Given the description of an element on the screen output the (x, y) to click on. 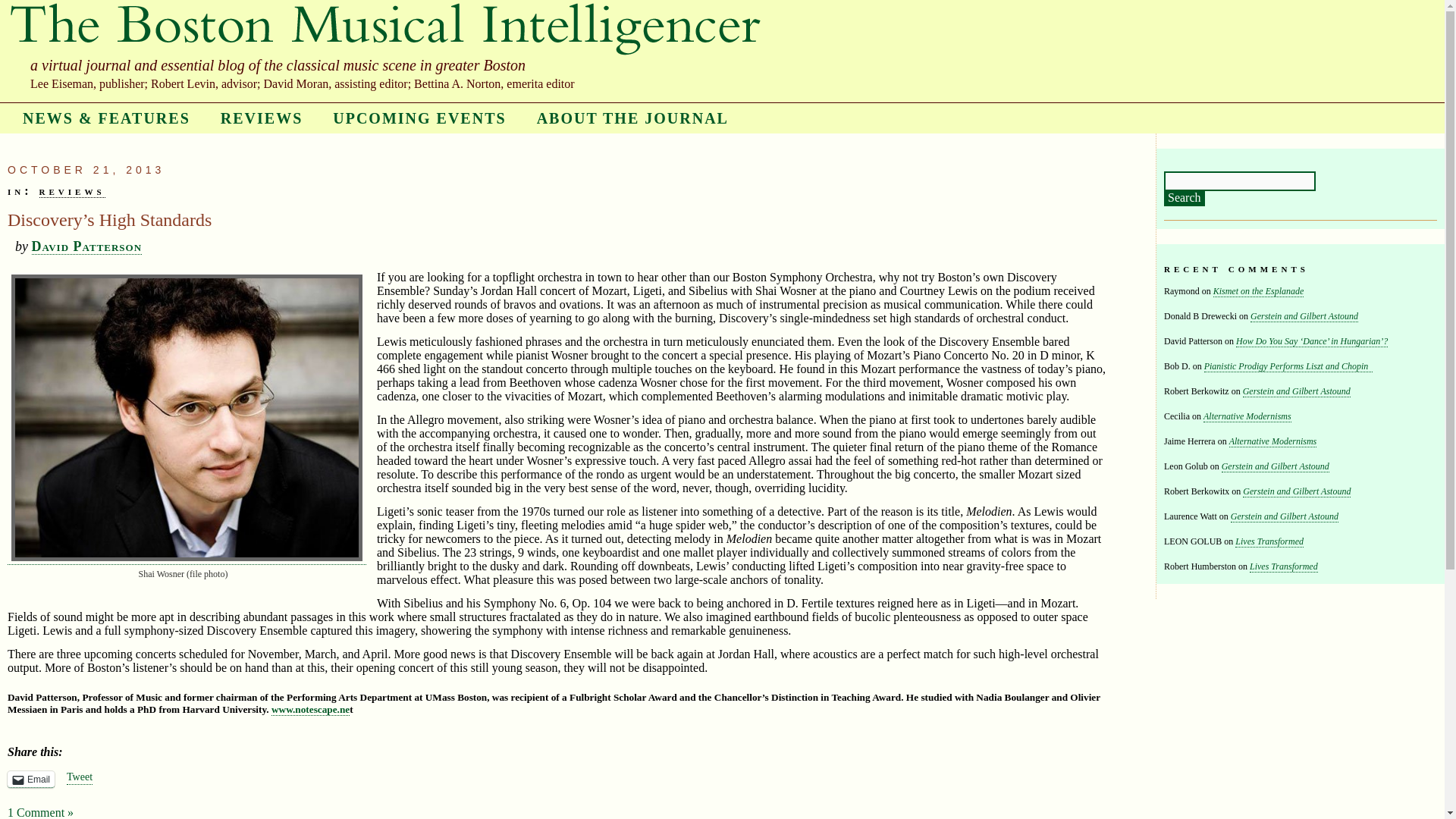
Gerstein and Gilbert Astound (1284, 516)
Gerstein and Gilbert Astound (1275, 466)
Gerstein and Gilbert Astound (1297, 491)
Kismet on the Esplanade (1258, 291)
Search (1184, 198)
Search (1184, 198)
David Patterson (87, 246)
Gerstein and Gilbert Astound (1304, 316)
ABOUT THE JOURNAL (632, 118)
Alternative Modernisms (1272, 441)
